Given the description of an element on the screen output the (x, y) to click on. 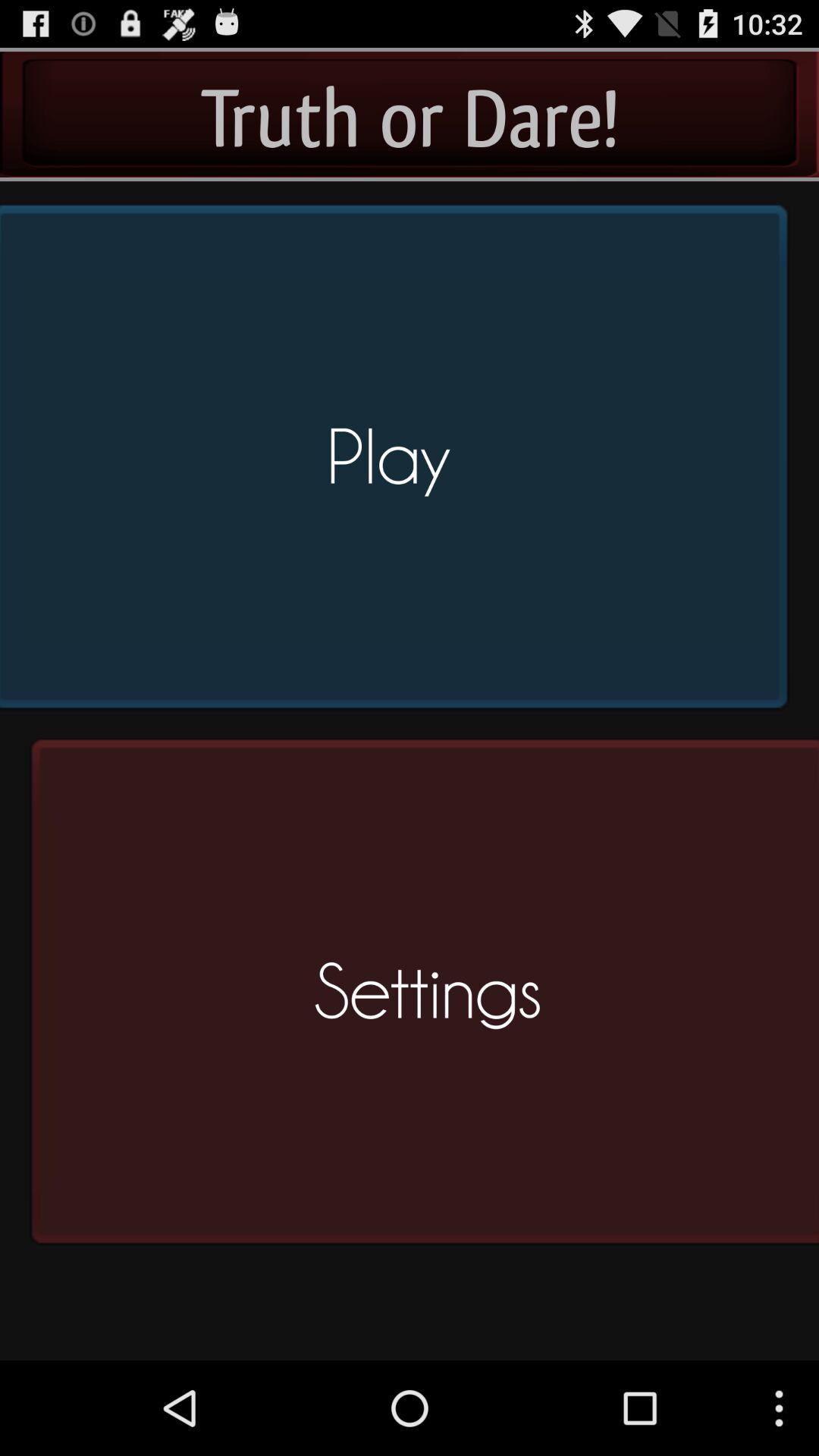
select the icon above settings icon (399, 463)
